Given the description of an element on the screen output the (x, y) to click on. 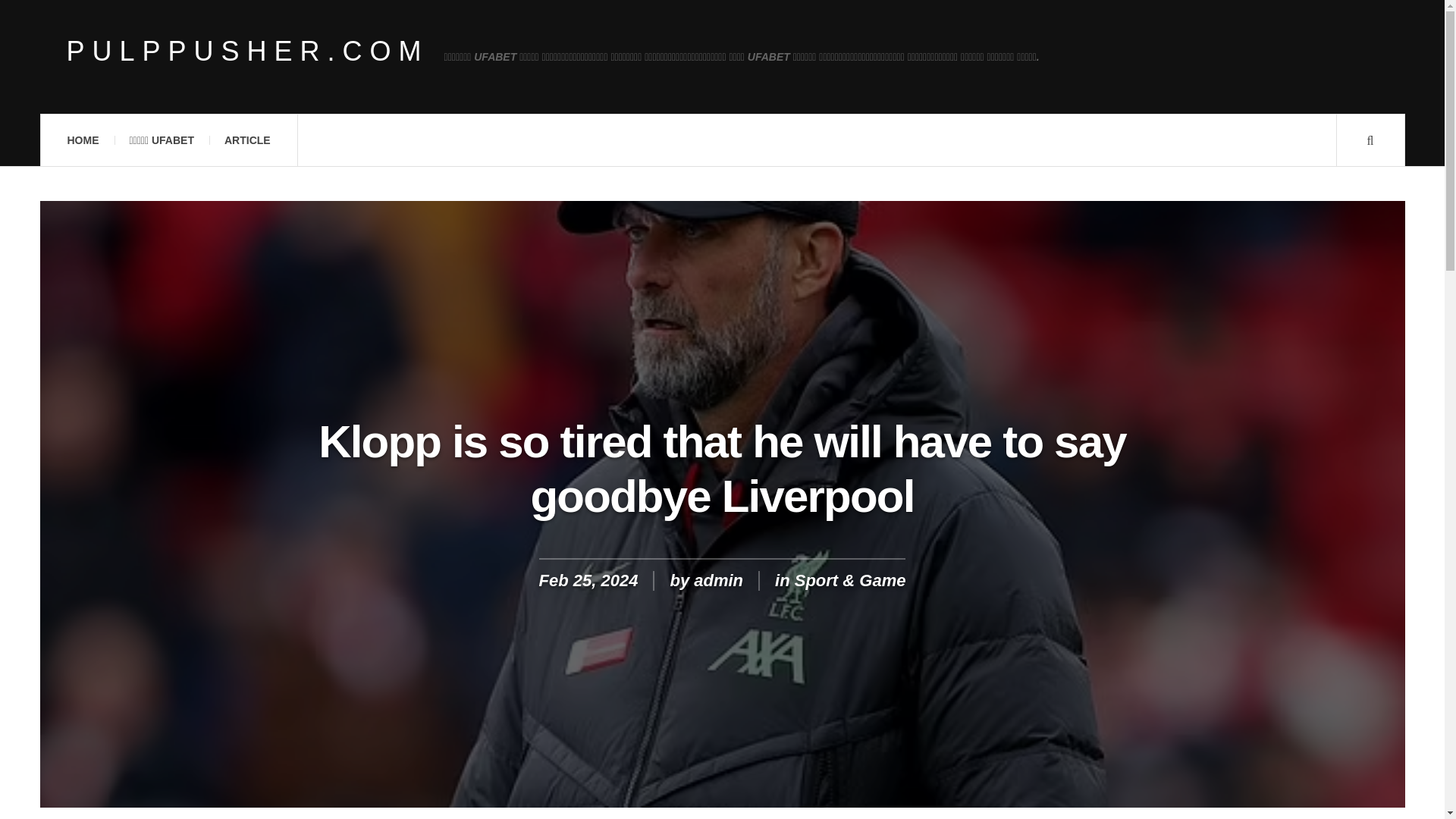
HOME (81, 140)
PULPPUSHER.COM (247, 51)
admin (718, 579)
PulpPusher.com (247, 51)
ARTICLE (247, 140)
